Given the description of an element on the screen output the (x, y) to click on. 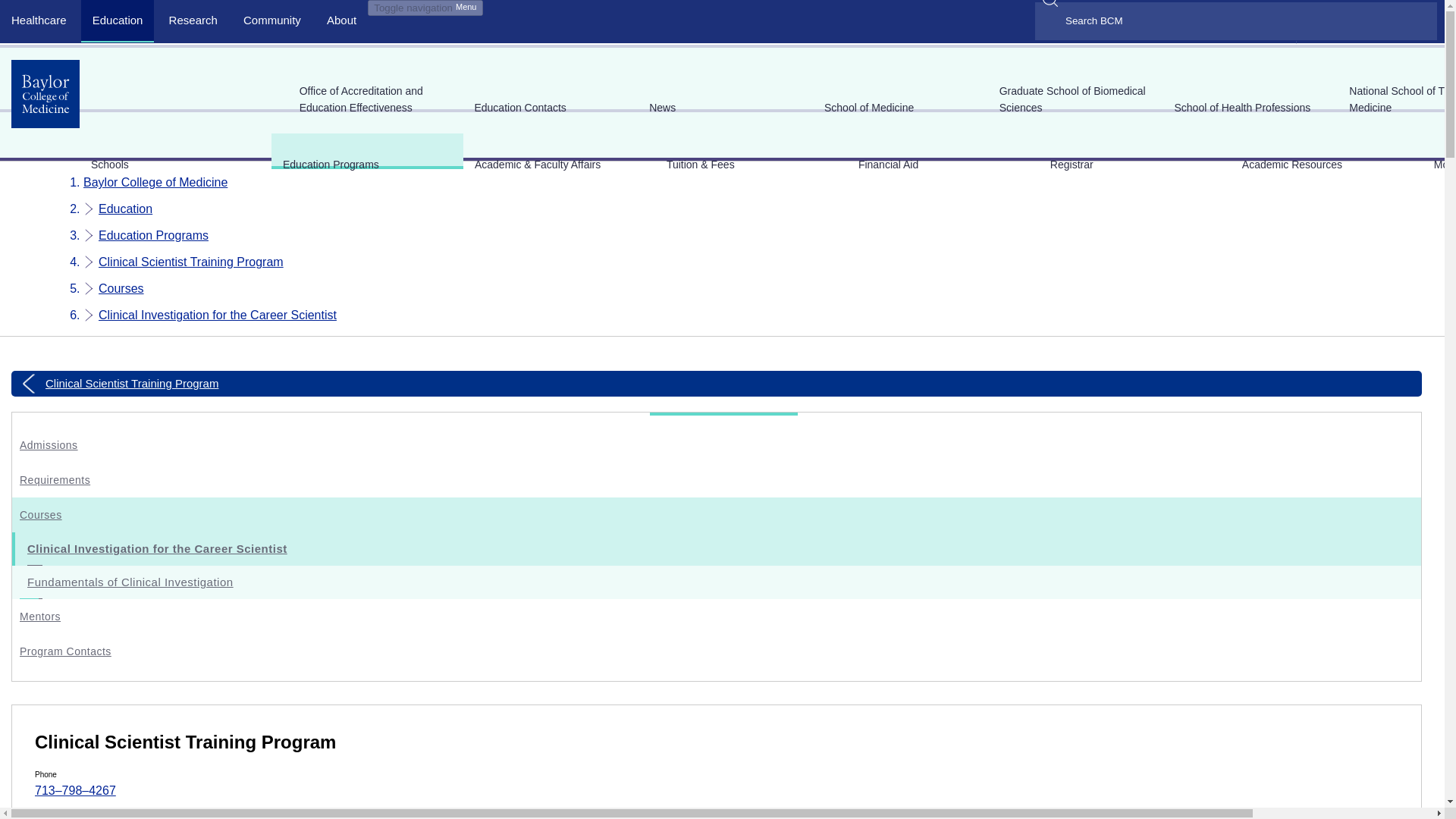
Courses (121, 287)
Education Programs (153, 235)
Education (117, 19)
Education (125, 208)
Baylor College of Medicine (154, 182)
Clinical Scientist Training Program (191, 261)
Clinical Investigation for the Career Scientist (217, 314)
Healthcare (38, 19)
